Given the description of an element on the screen output the (x, y) to click on. 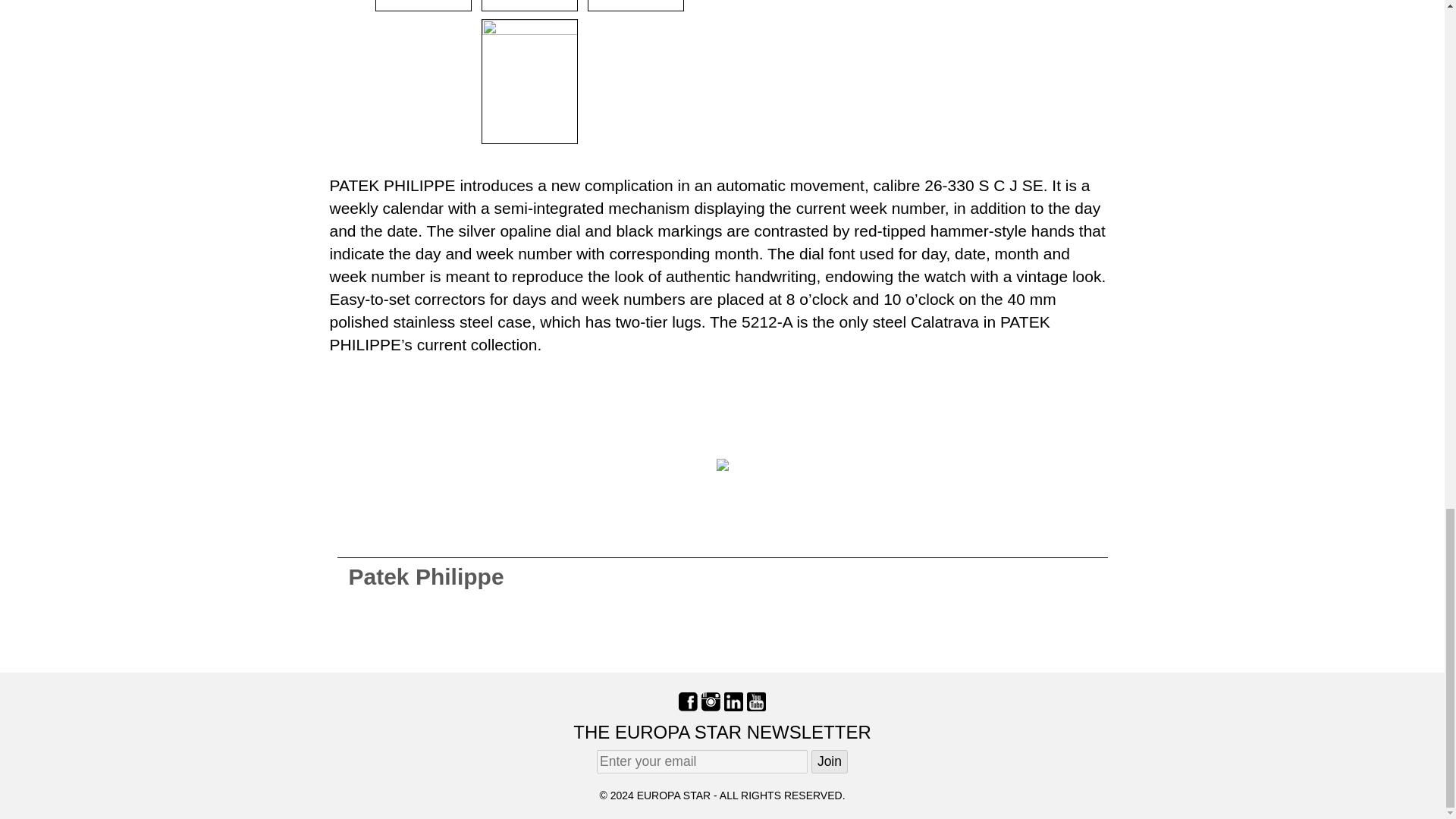
Join (828, 761)
Instagram (710, 700)
Youtube (755, 700)
Linkedin (732, 700)
Facebook (687, 700)
